Given the description of an element on the screen output the (x, y) to click on. 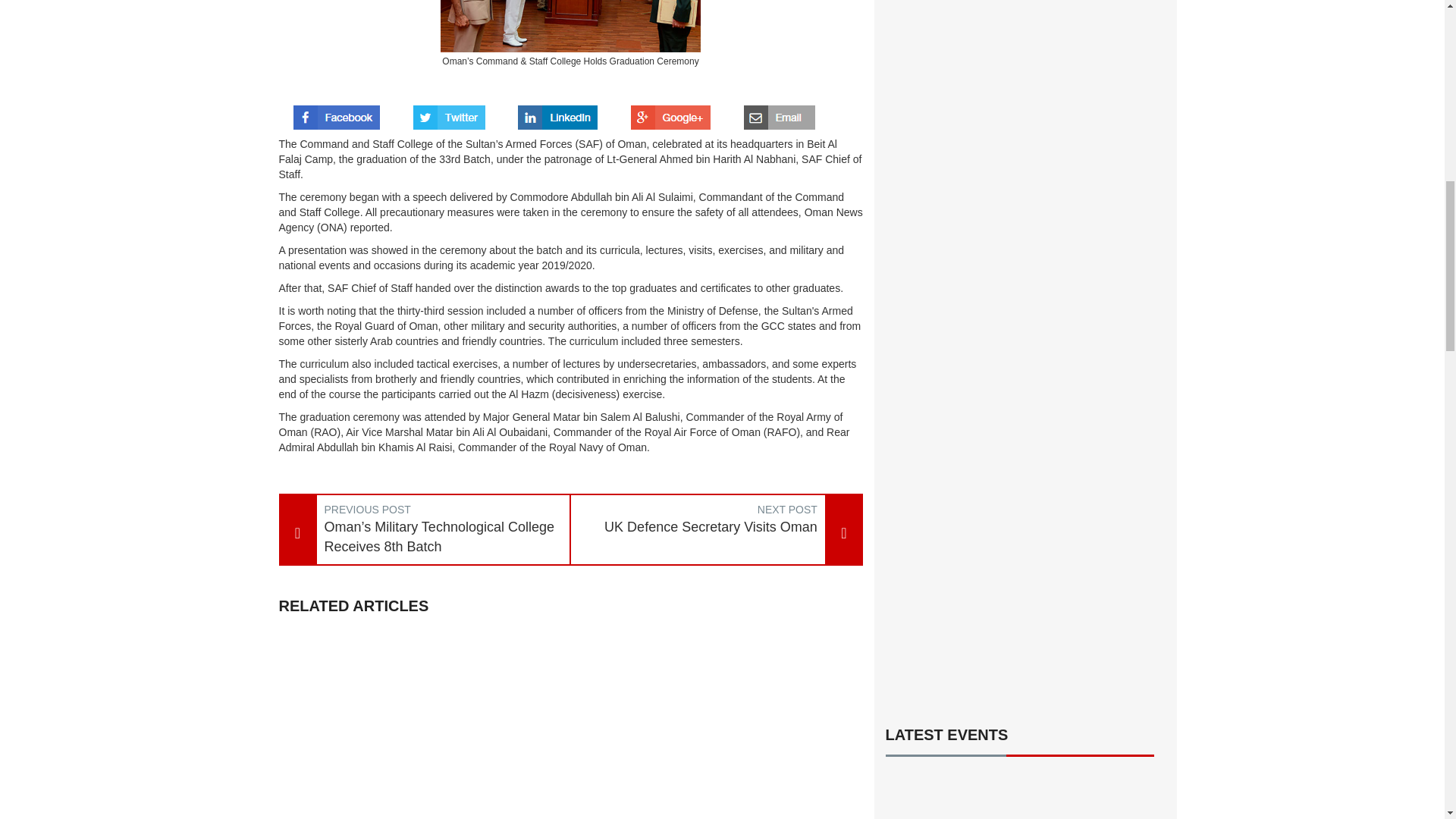
Tweet this (448, 112)
UK Defence Secretary Visits Oman (697, 527)
Share on LinkedIn (557, 112)
Visit defaiya on Facebook (337, 112)
